Given the description of an element on the screen output the (x, y) to click on. 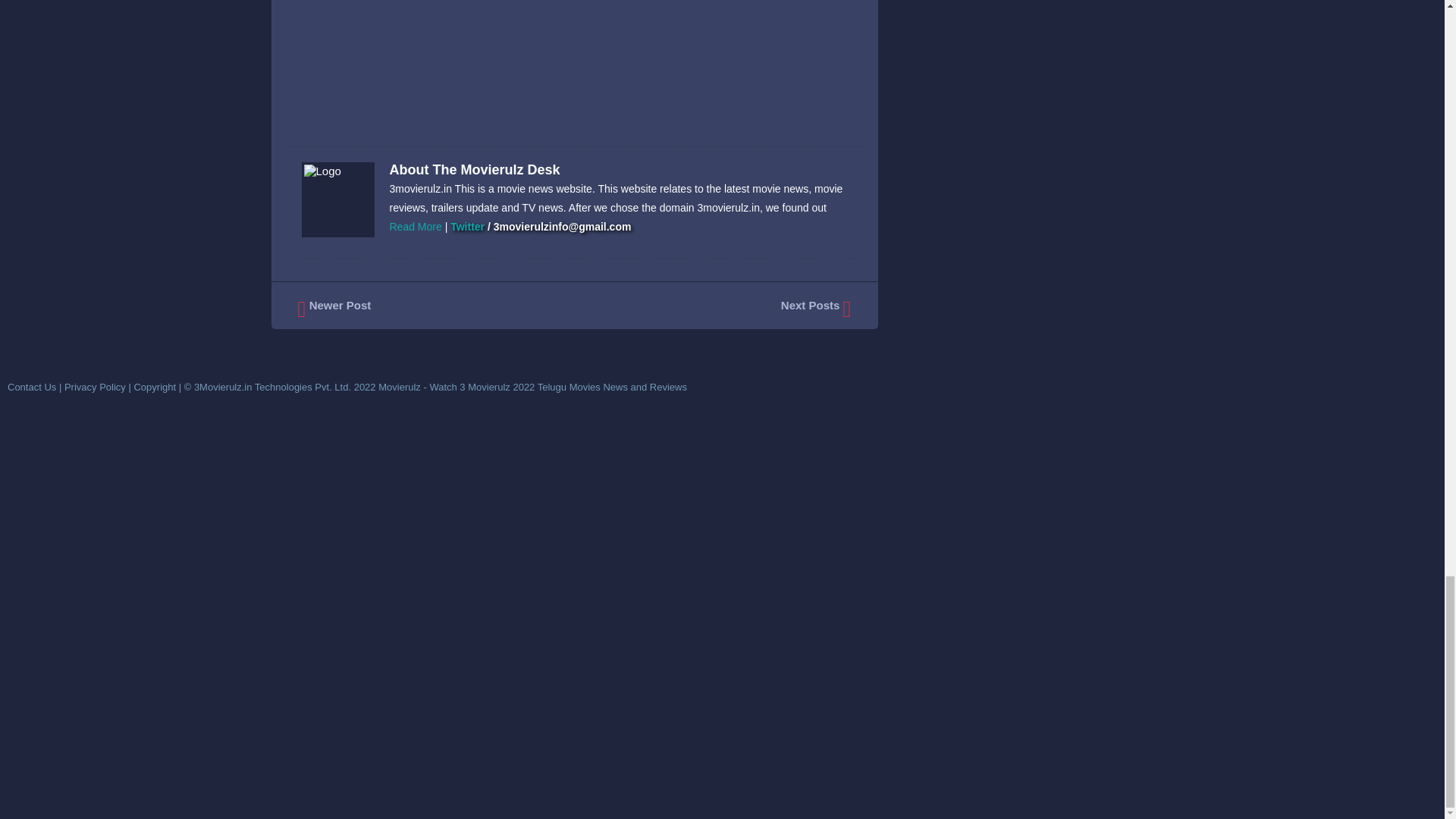
Read More (416, 226)
Twitter (466, 226)
